Given the description of an element on the screen output the (x, y) to click on. 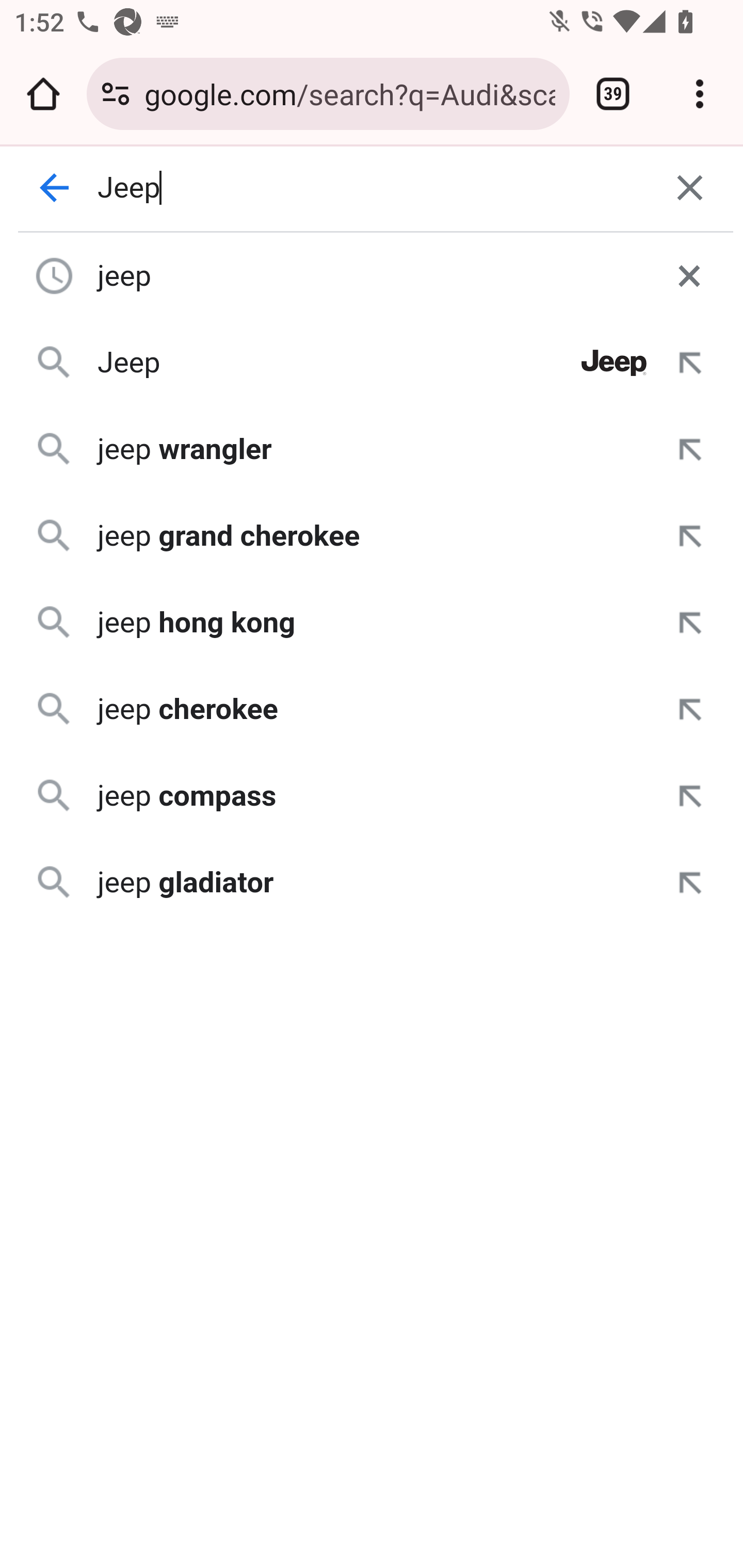
Open the home page (43, 93)
Connection is secure (115, 93)
Switch or close tabs (612, 93)
Customize and control Google Chrome (699, 93)
Back (54, 188)
Clear Search (690, 188)
Jeep (372, 188)
Delete (689, 274)
